Given the description of an element on the screen output the (x, y) to click on. 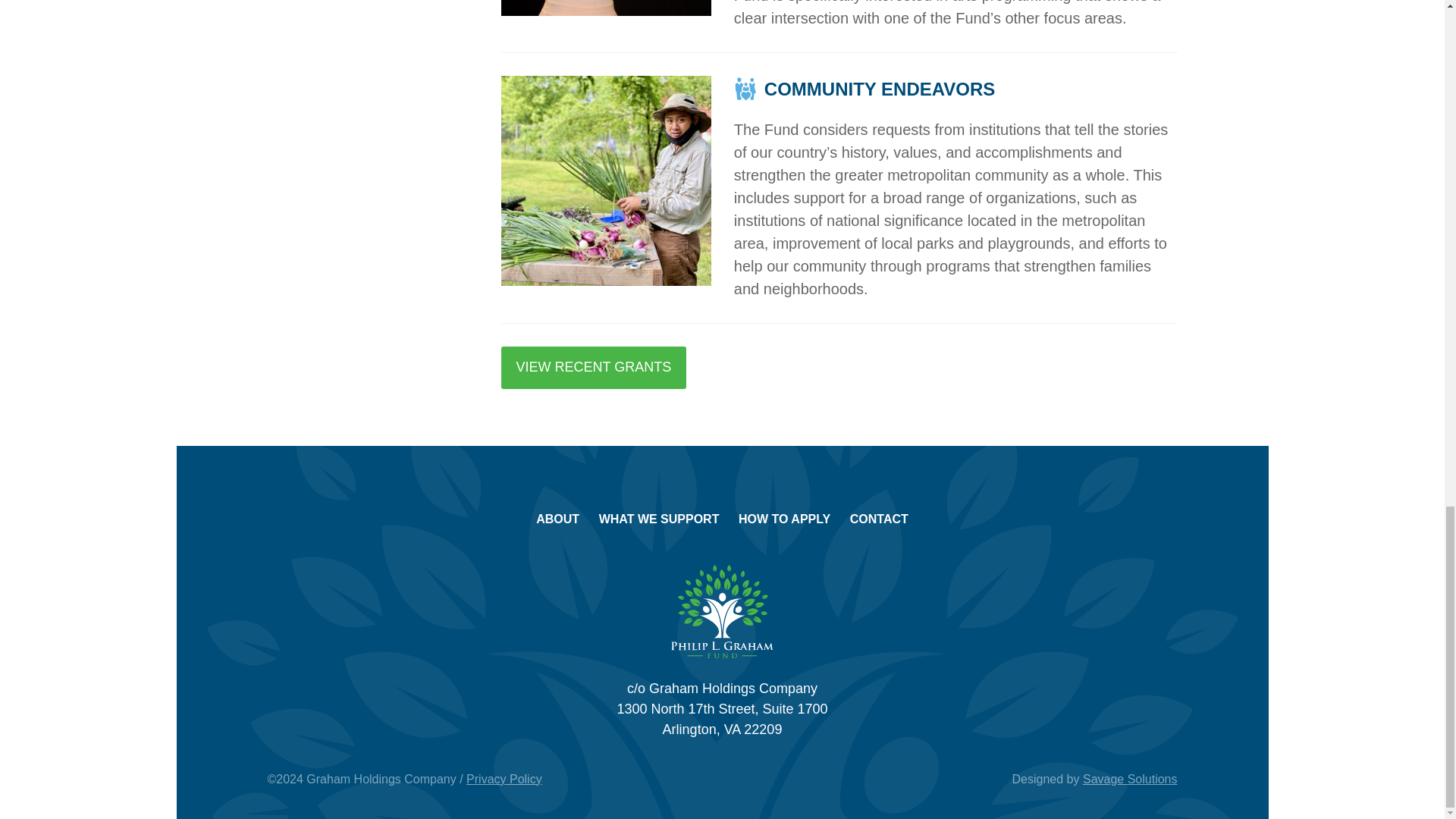
Savage Solutions (1130, 779)
VIEW RECENT GRANTS (592, 367)
WHAT WE SUPPORT (658, 519)
HOW TO APPLY (783, 519)
Privacy Policy (503, 779)
CONTACT (879, 519)
ABOUT (557, 519)
